Given the description of an element on the screen output the (x, y) to click on. 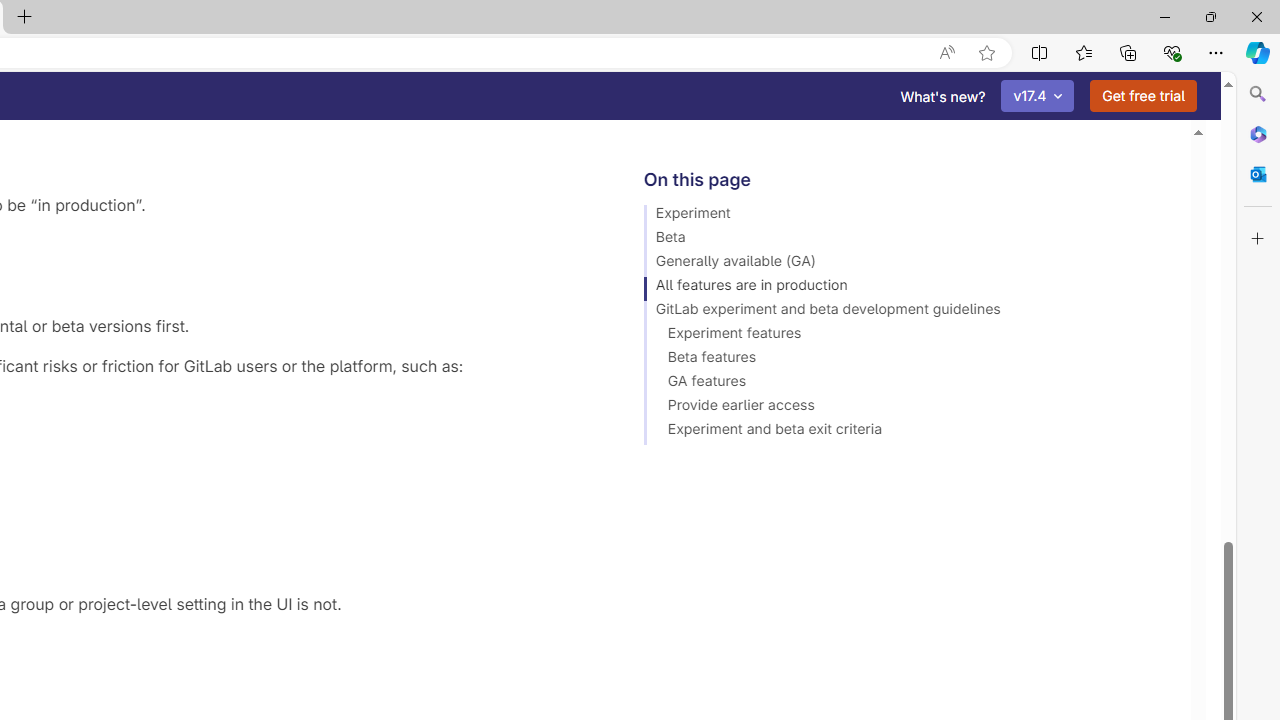
GA features (908, 384)
Experiment features (908, 336)
Get free trial (1143, 95)
Provide earlier access (908, 408)
Beta features (908, 359)
Generally available (GA) (908, 264)
Experiment features (908, 336)
Get free trial (1143, 95)
GA features (908, 384)
